Given the description of an element on the screen output the (x, y) to click on. 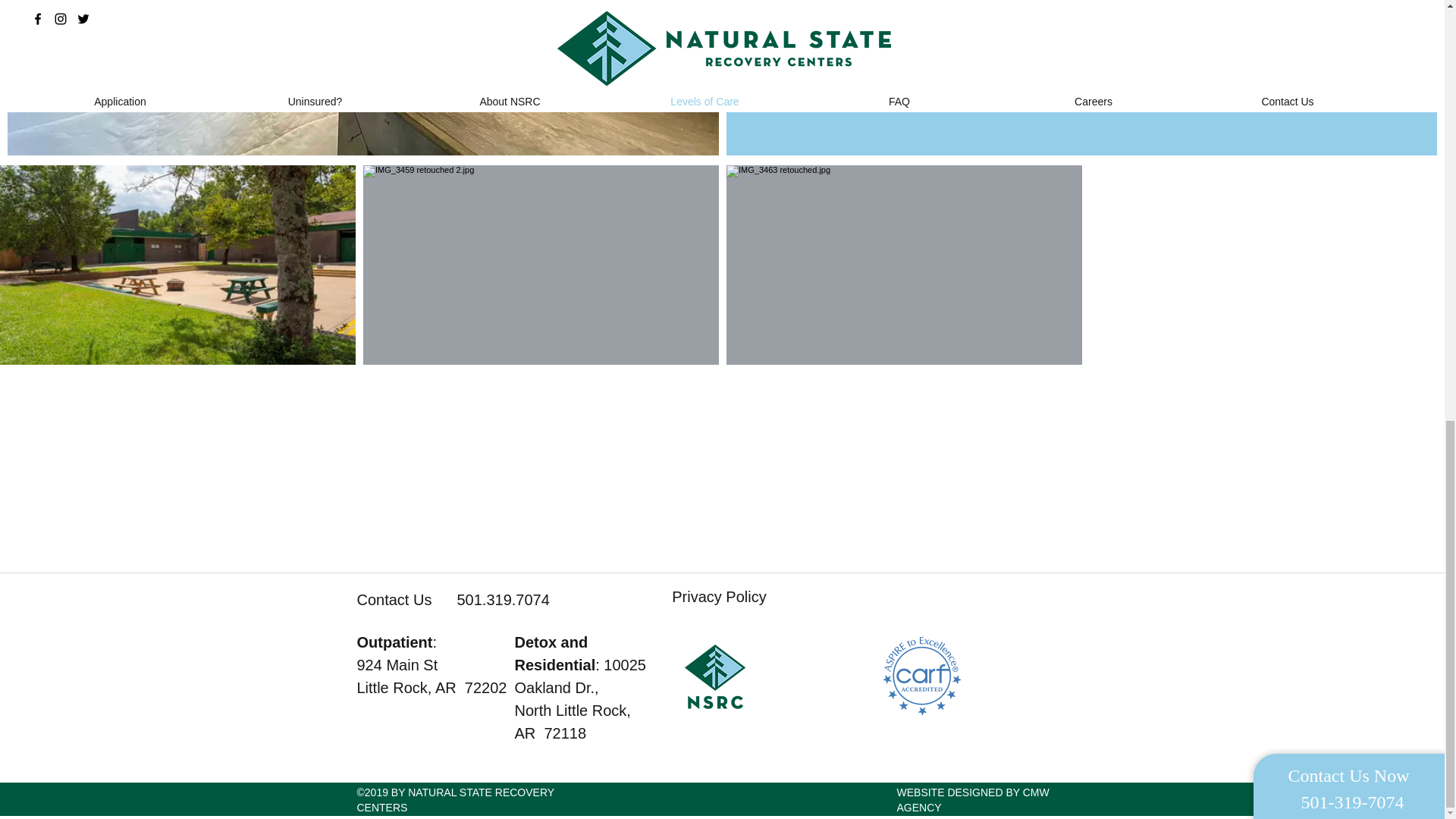
Privacy Policy (718, 596)
WEBSITE DESIGNED BY CMW AGENCY (972, 800)
